Given the description of an element on the screen output the (x, y) to click on. 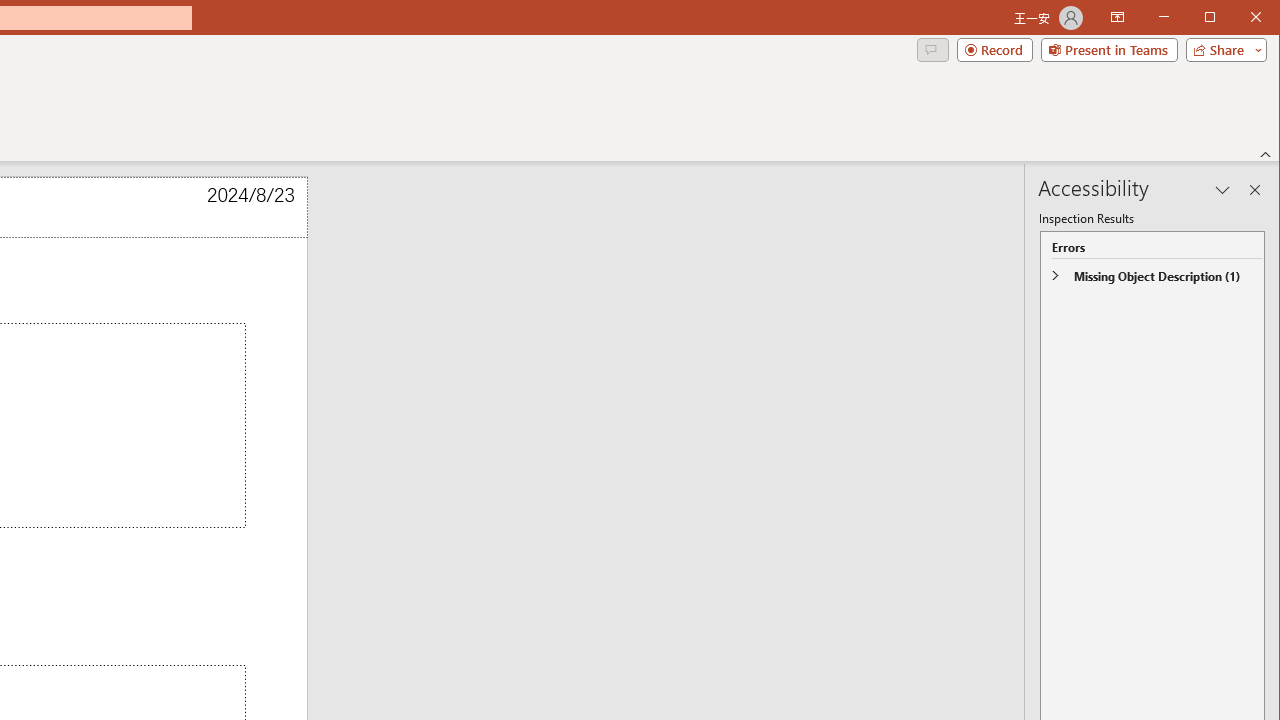
Maximize (1238, 18)
